Given the description of an element on the screen output the (x, y) to click on. 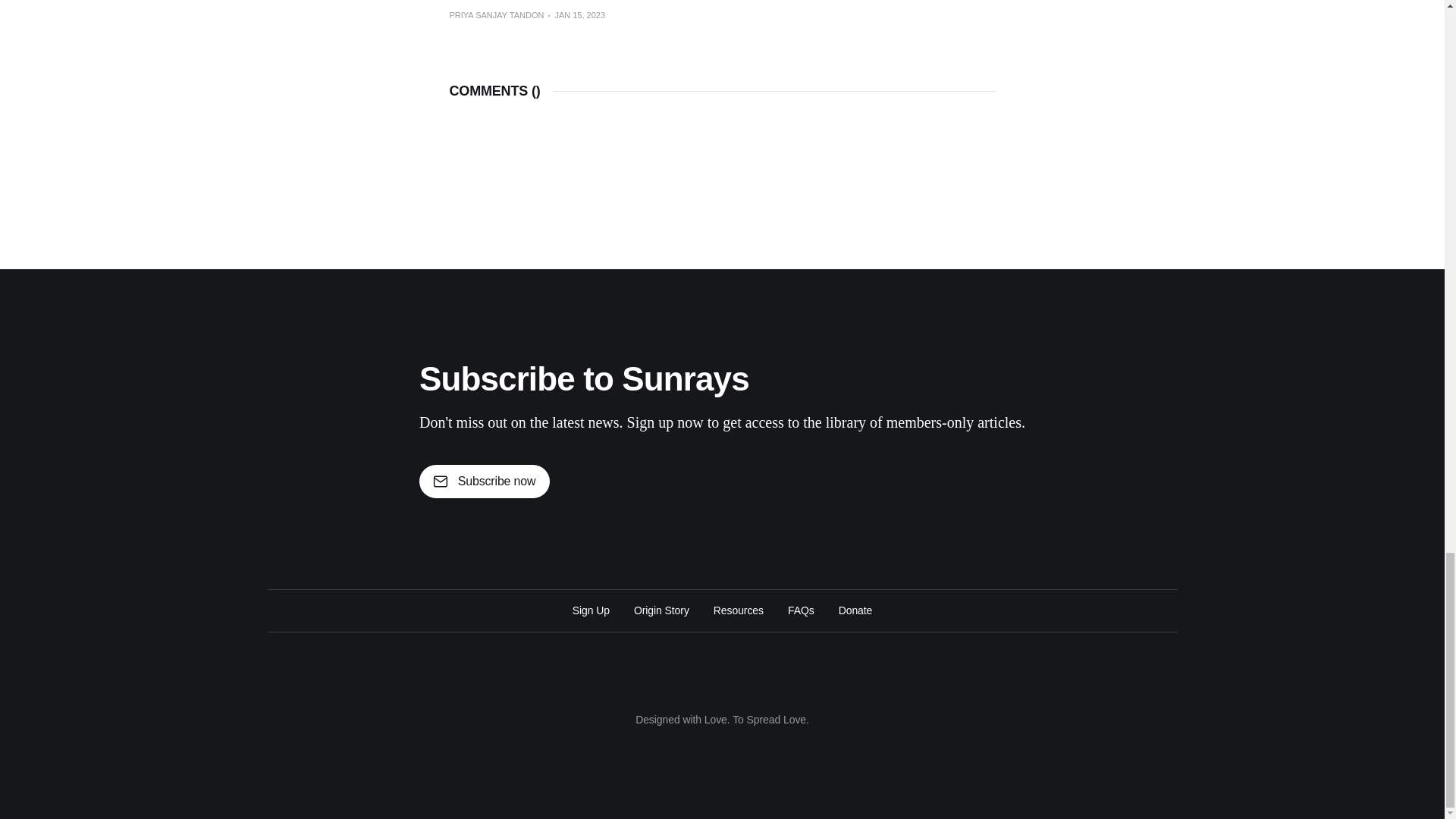
Sign Up (591, 610)
Origin Story (660, 610)
FAQs (800, 610)
Subscribe now (484, 481)
Resources (737, 610)
Donate (855, 610)
